Given the description of an element on the screen output the (x, y) to click on. 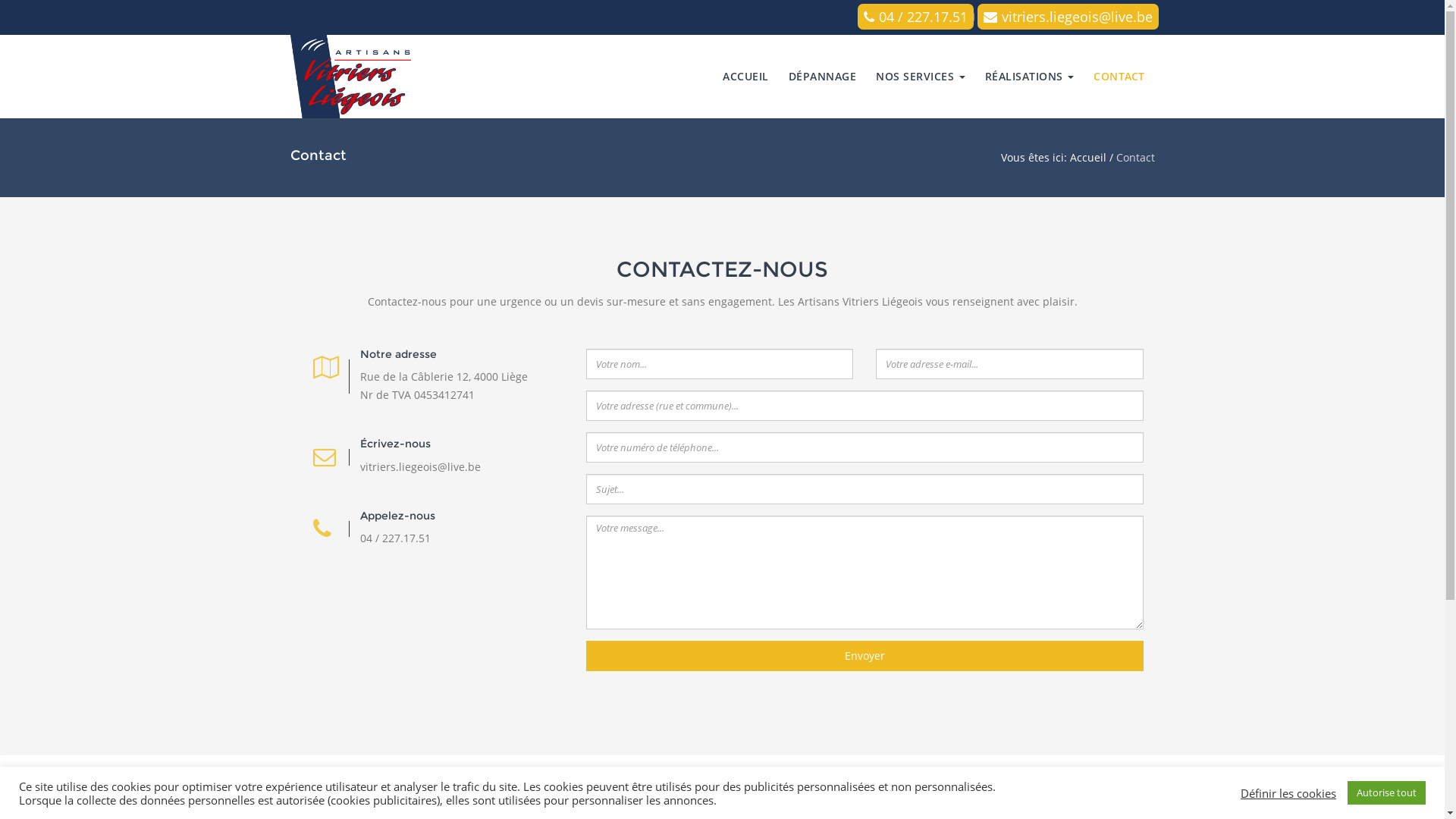
CONTACT Element type: text (1118, 76)
Autorise tout Element type: text (1386, 792)
Envoyer Element type: text (863, 655)
NOS SERVICES Element type: text (920, 76)
vitriers.liegeois@live.be Element type: text (419, 466)
04 / 227.17.51 Element type: text (394, 537)
ACCUEIL Element type: text (745, 76)
04 / 227.17.51 Element type: text (914, 16)
Accueil Element type: text (1087, 157)
vitriers.liegeois@live.be Element type: text (1066, 16)
